Given the description of an element on the screen output the (x, y) to click on. 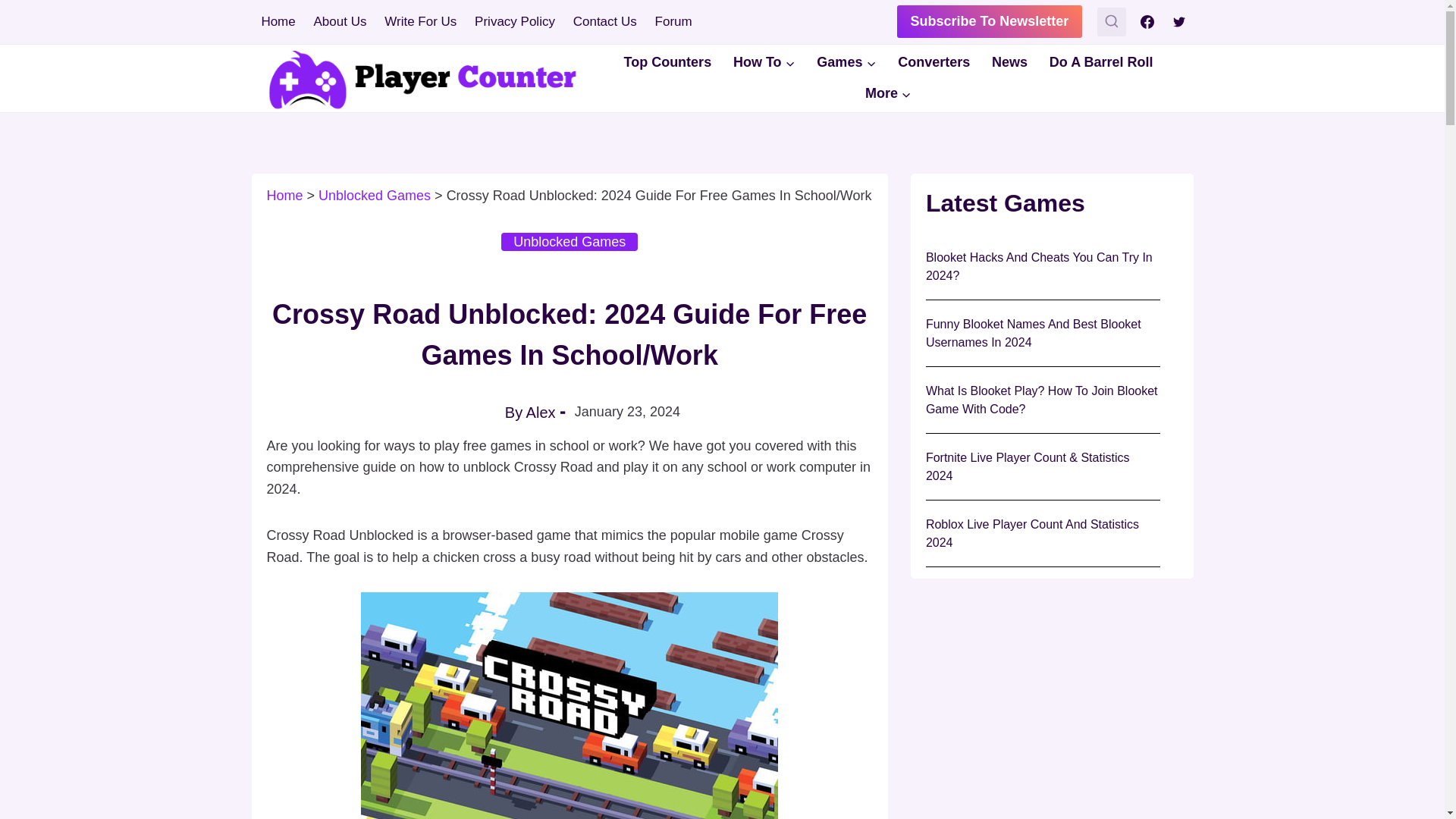
About Us (339, 22)
More (888, 92)
Go to the Unblocked Games Category archives. (374, 195)
Unblocked Games (568, 241)
Write For Us (420, 22)
Home (277, 22)
News (1010, 61)
Privacy Policy (514, 22)
Subscribe To Newsletter (989, 20)
Do A Barrel Roll (1100, 61)
Home (284, 195)
Top Counters (667, 61)
Forum (673, 22)
Games (846, 61)
Contact Us (605, 22)
